Given the description of an element on the screen output the (x, y) to click on. 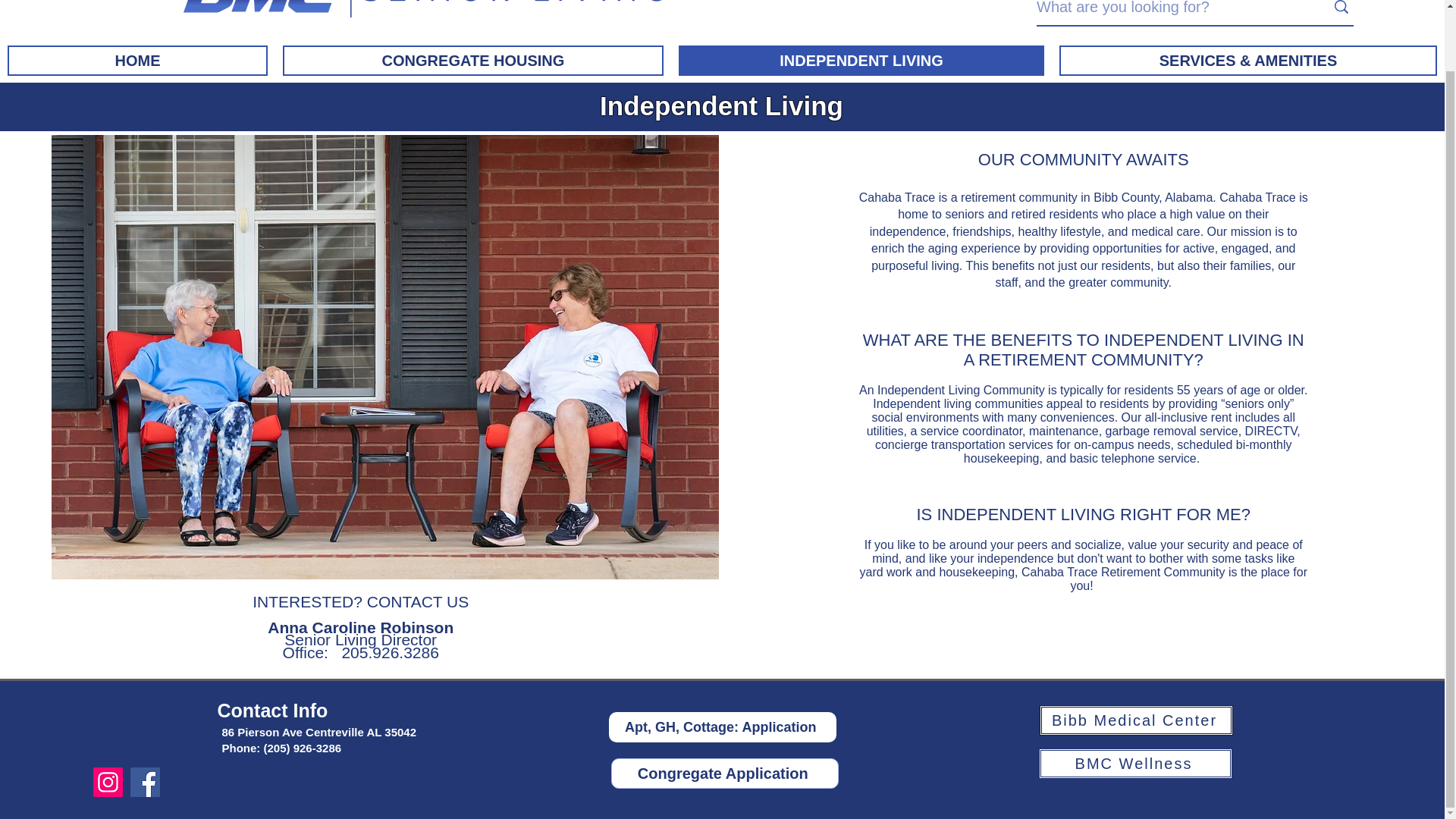
INDEPENDENT LIVING (860, 60)
bmc horizontal lgo.png (425, 15)
Bibb Medical Center (1135, 720)
HOME (137, 60)
Apt, GH, Cottage: Application (721, 726)
CONGREGATE HOUSING (472, 60)
BMC Wellness (1135, 763)
Congregate Application (724, 773)
